Given the description of an element on the screen output the (x, y) to click on. 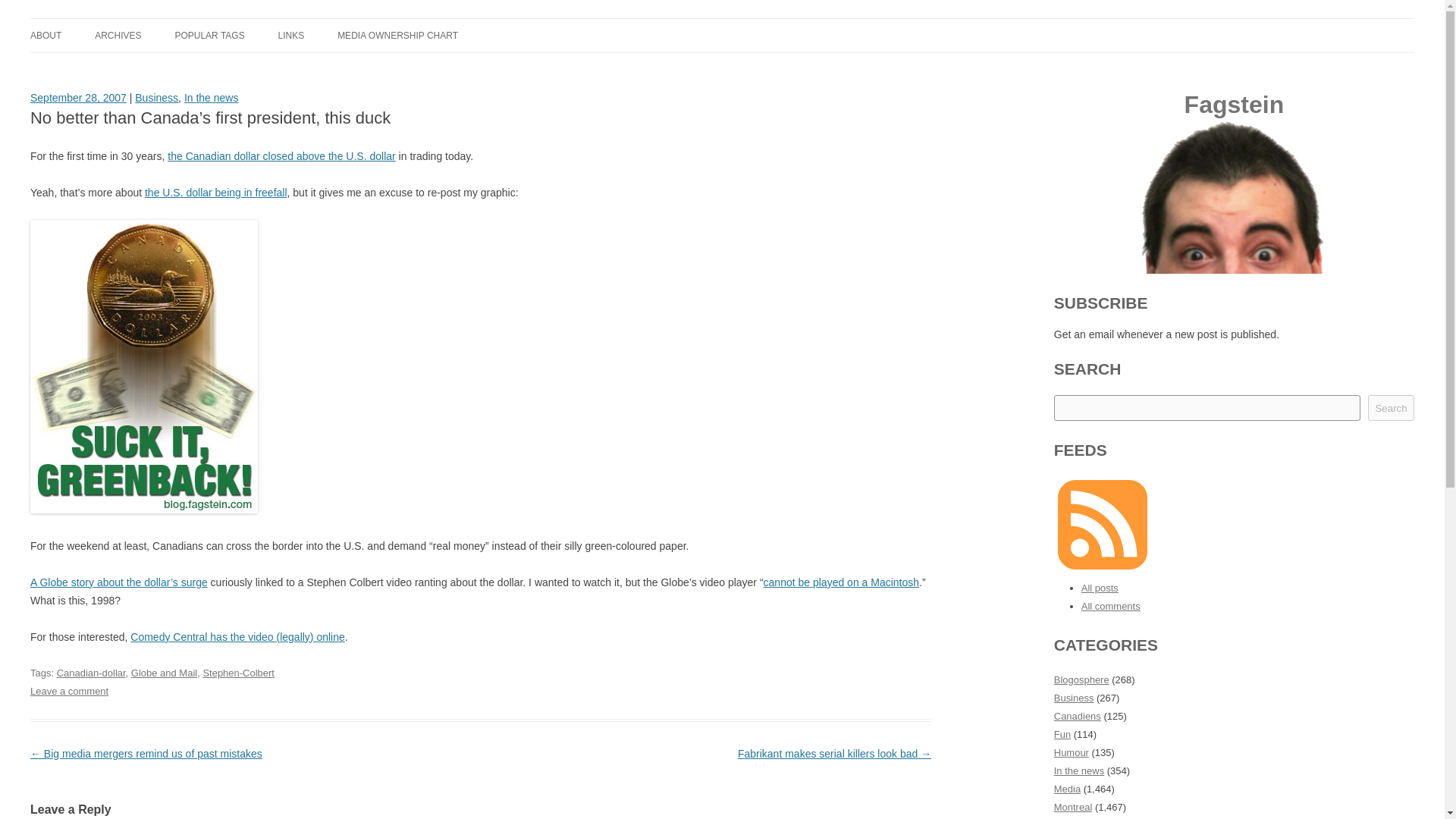
September 28, 2007 (78, 97)
Canadian-dollar (90, 672)
Fun (1062, 734)
In the news (211, 97)
4:47 pm (78, 97)
cannot be played on a Macintosh (840, 582)
ARCHIVES (117, 35)
Search (1390, 407)
Humour (1071, 752)
the Canadian dollar closed above the U.S. dollar (280, 155)
